Given the description of an element on the screen output the (x, y) to click on. 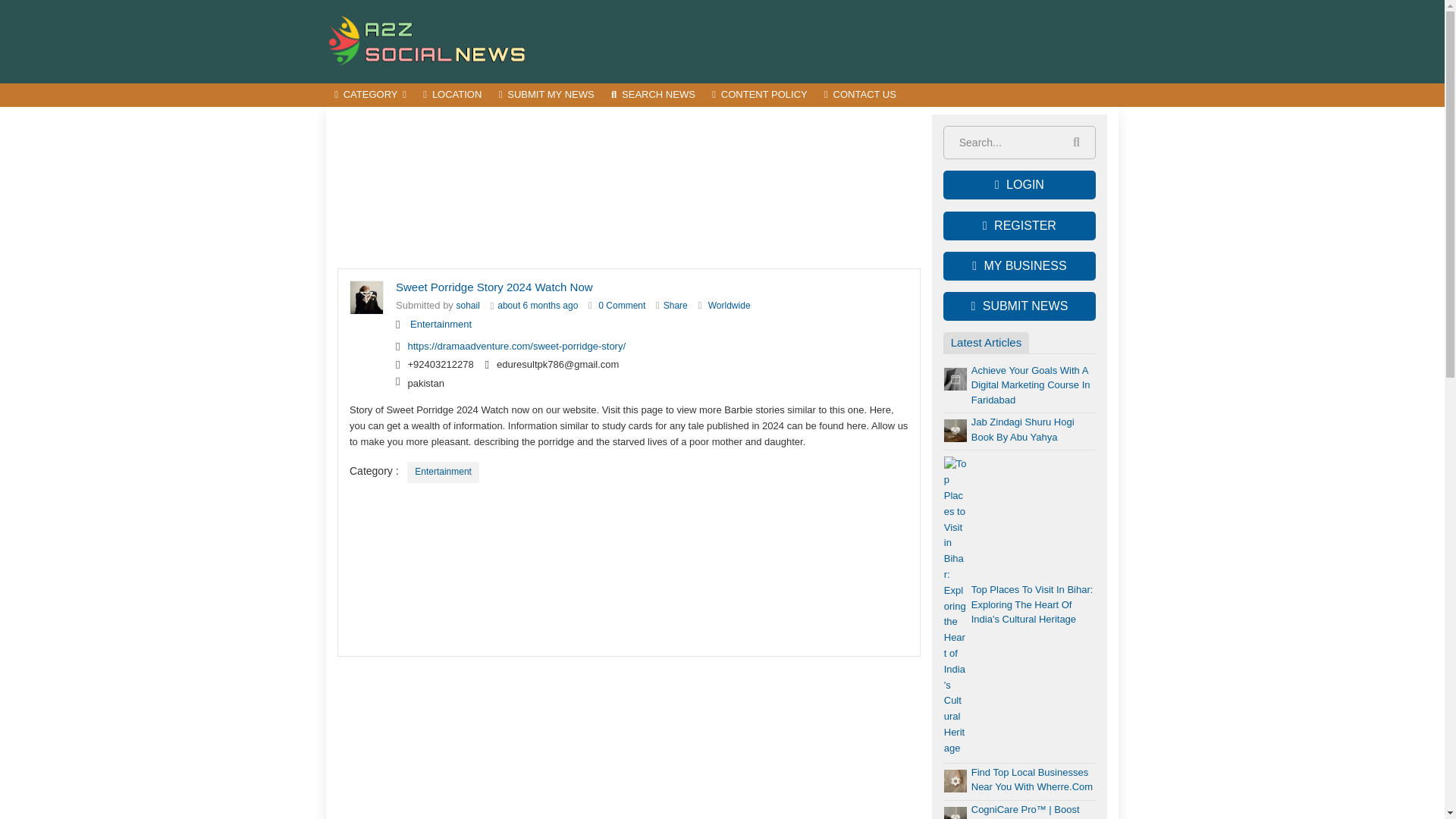
LOGIN (1019, 184)
about 6 months ago (537, 305)
Worldwide (729, 305)
malik sohail (468, 305)
Share (675, 305)
MY BUSINESS (1019, 265)
SEARCH NEWS (652, 95)
Register (1019, 225)
Entertainment (440, 324)
